Given the description of an element on the screen output the (x, y) to click on. 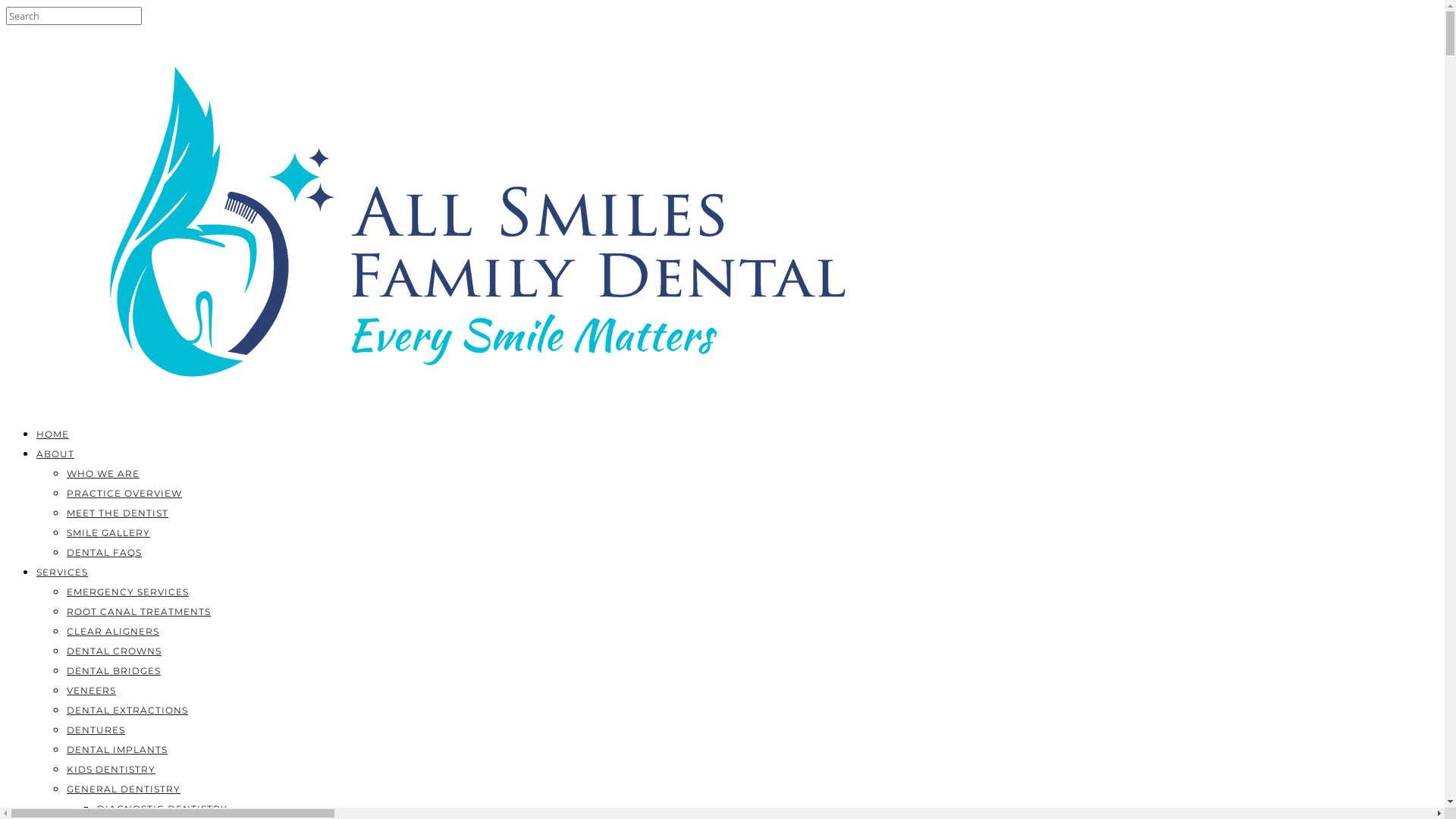
CLEAR ALIGNERS Element type: text (112, 631)
WHO WE ARE Element type: text (102, 473)
ROOT CANAL TREATMENTS Element type: text (138, 611)
SMILE GALLERY Element type: text (108, 532)
DIAGNOSTIC DENTISTRY Element type: text (162, 808)
DENTAL FAQS Element type: text (103, 552)
PRACTICE OVERVIEW Element type: text (124, 492)
GENERAL DENTISTRY Element type: text (123, 788)
DENTAL CROWNS Element type: text (113, 650)
MEET THE DENTIST Element type: text (117, 512)
HOME Element type: text (52, 433)
EMERGENCY SERVICES Element type: text (127, 591)
All Smiles Family Dental Element type: hover (491, 403)
DENTAL EXTRACTIONS Element type: text (127, 709)
KIDS DENTISTRY Element type: text (110, 769)
DENTAL BRIDGES Element type: text (113, 670)
VENEERS Element type: text (91, 690)
ABOUT Element type: text (55, 453)
SERVICES Element type: text (61, 571)
DENTAL IMPLANTS Element type: text (116, 749)
DENTURES Element type: text (95, 729)
